Given the description of an element on the screen output the (x, y) to click on. 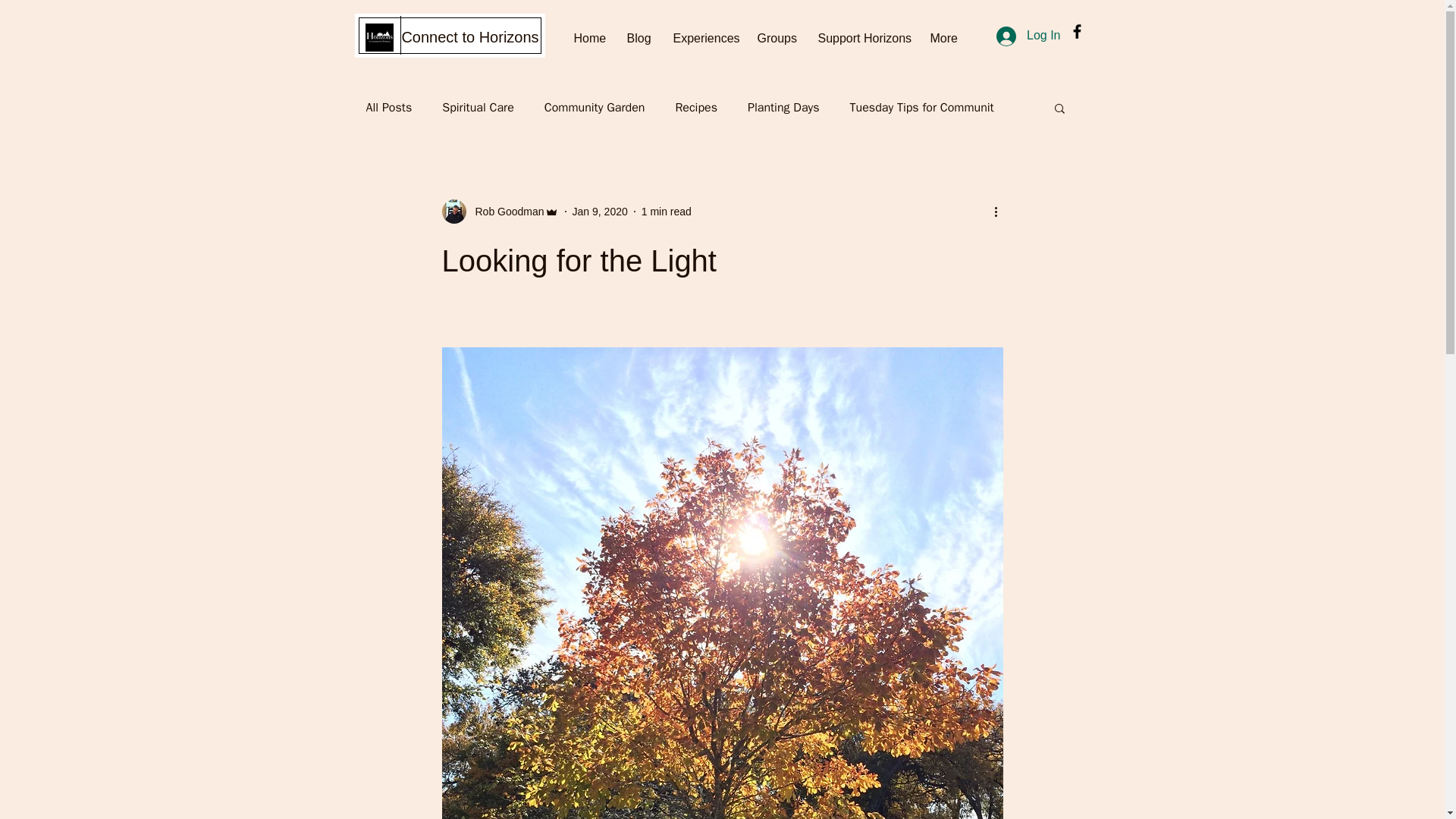
Rob Goodman (504, 211)
All Posts (388, 107)
Blog (638, 38)
Connect to Horizons (470, 37)
Log In (1027, 35)
Experiences (703, 38)
Recipes (696, 107)
1 min read (666, 210)
Groups (775, 38)
Tuesday Tips for Communit (922, 107)
Spiritual Care (477, 107)
Support Horizons (862, 38)
Home (588, 38)
Community Garden (594, 107)
Jan 9, 2020 (599, 210)
